Given the description of an element on the screen output the (x, y) to click on. 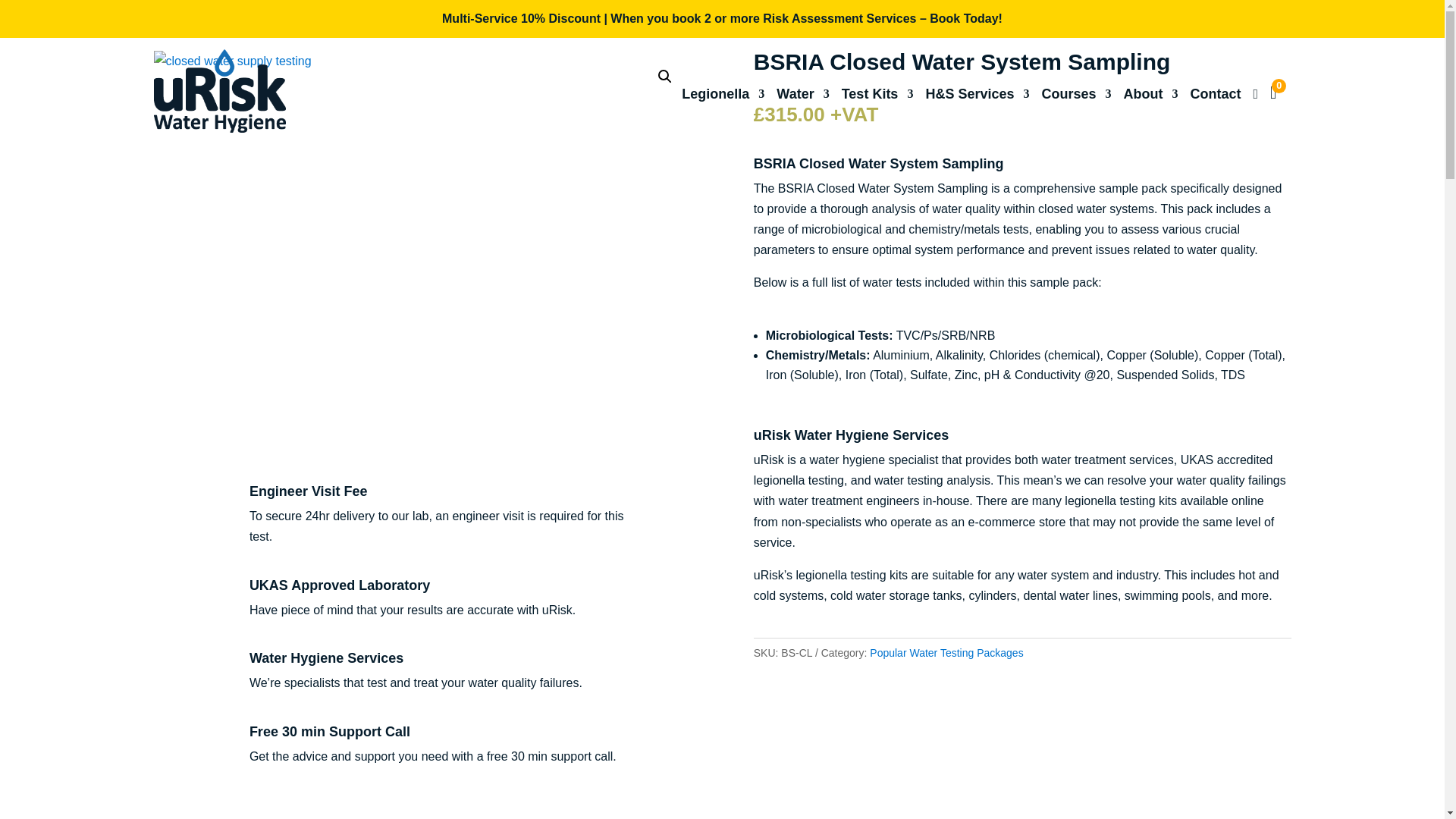
Test Kits (877, 99)
Water (802, 99)
Legionella (722, 99)
